Given the description of an element on the screen output the (x, y) to click on. 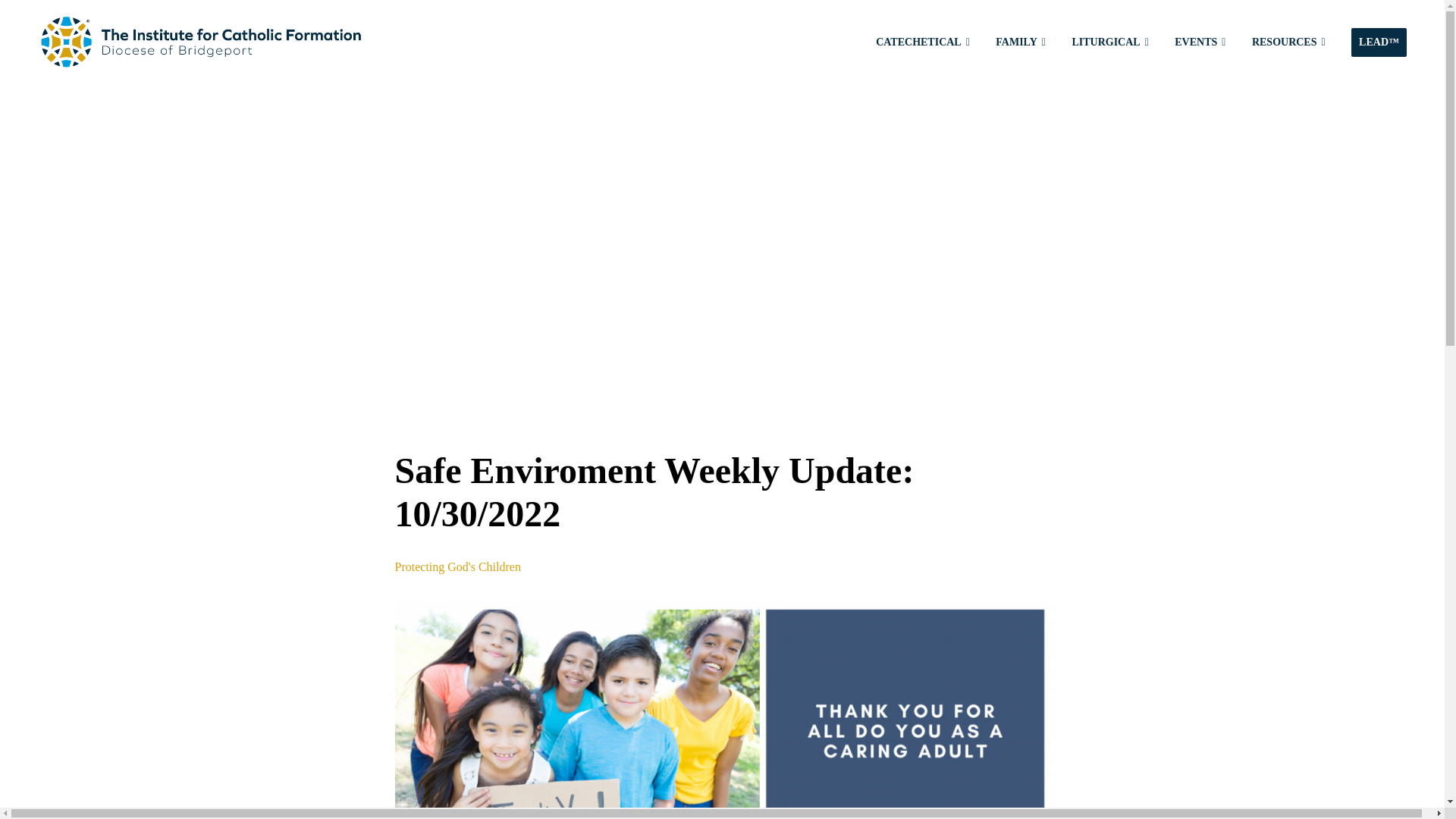
CATECHETICAL (922, 41)
